Given the description of an element on the screen output the (x, y) to click on. 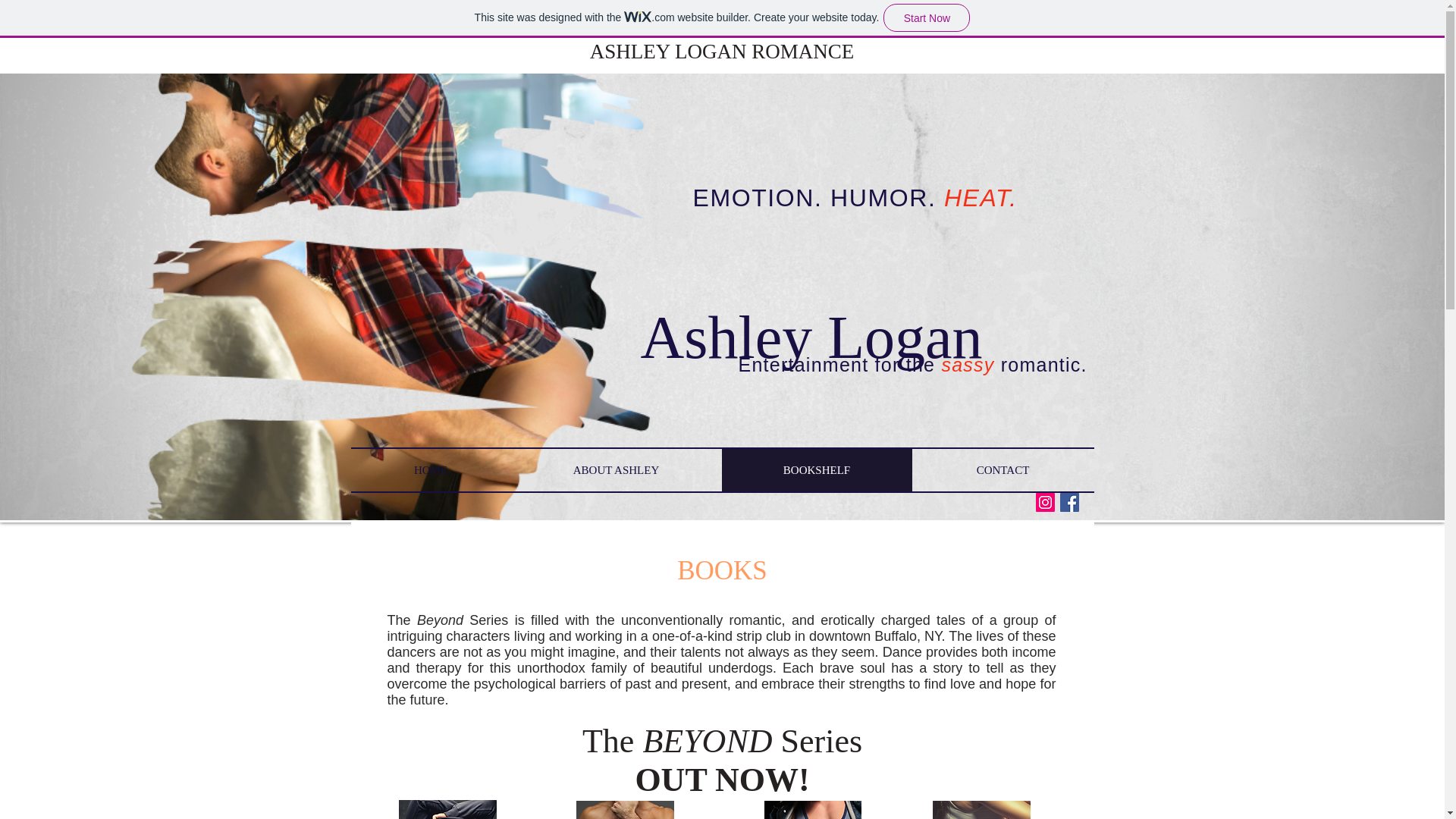
CONTACT (1002, 469)
BOOKSHELF (817, 469)
ABOUT ASHLEY (616, 469)
HOME (430, 469)
